Given the description of an element on the screen output the (x, y) to click on. 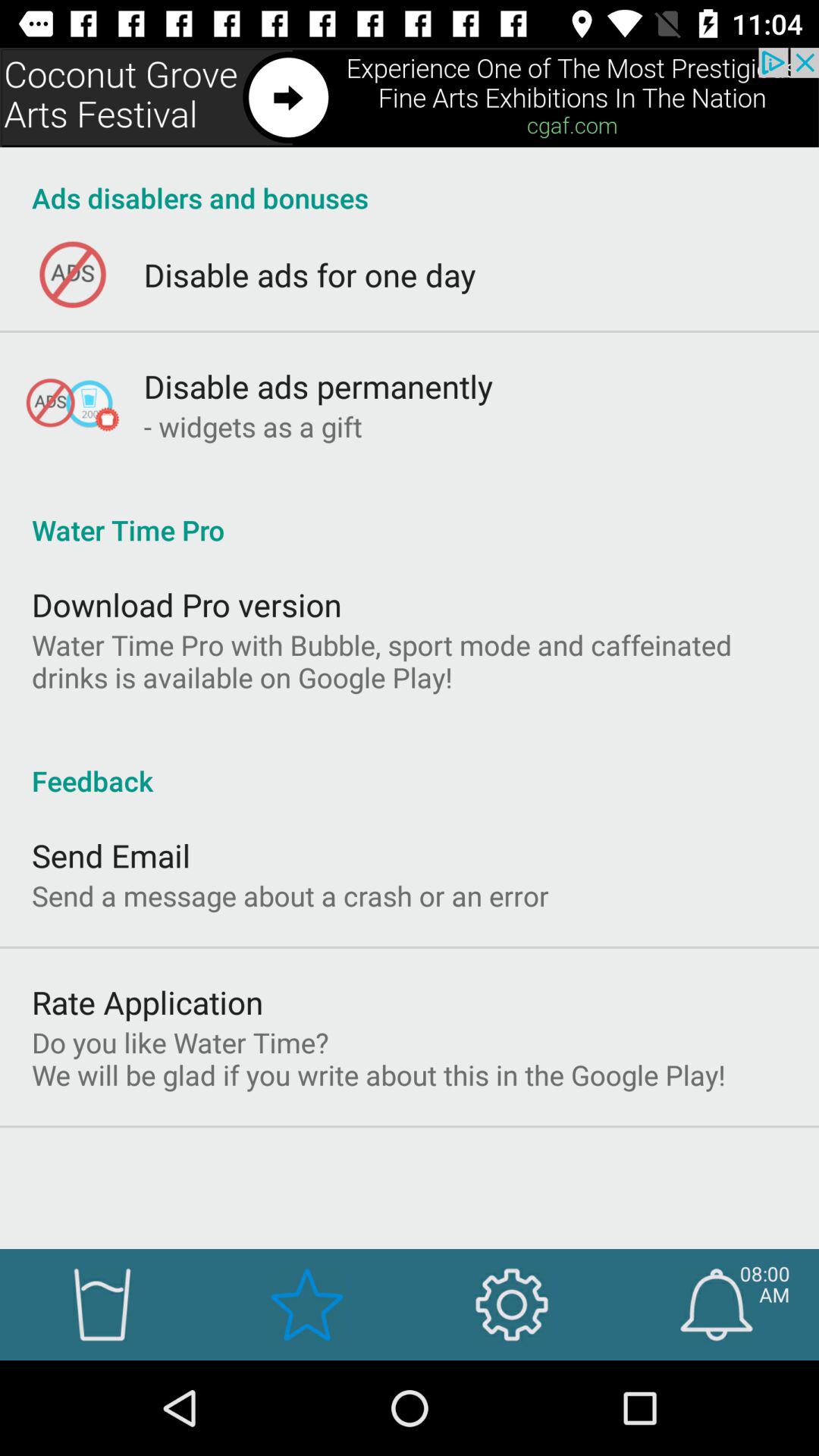
advertisement (409, 97)
